Given the description of an element on the screen output the (x, y) to click on. 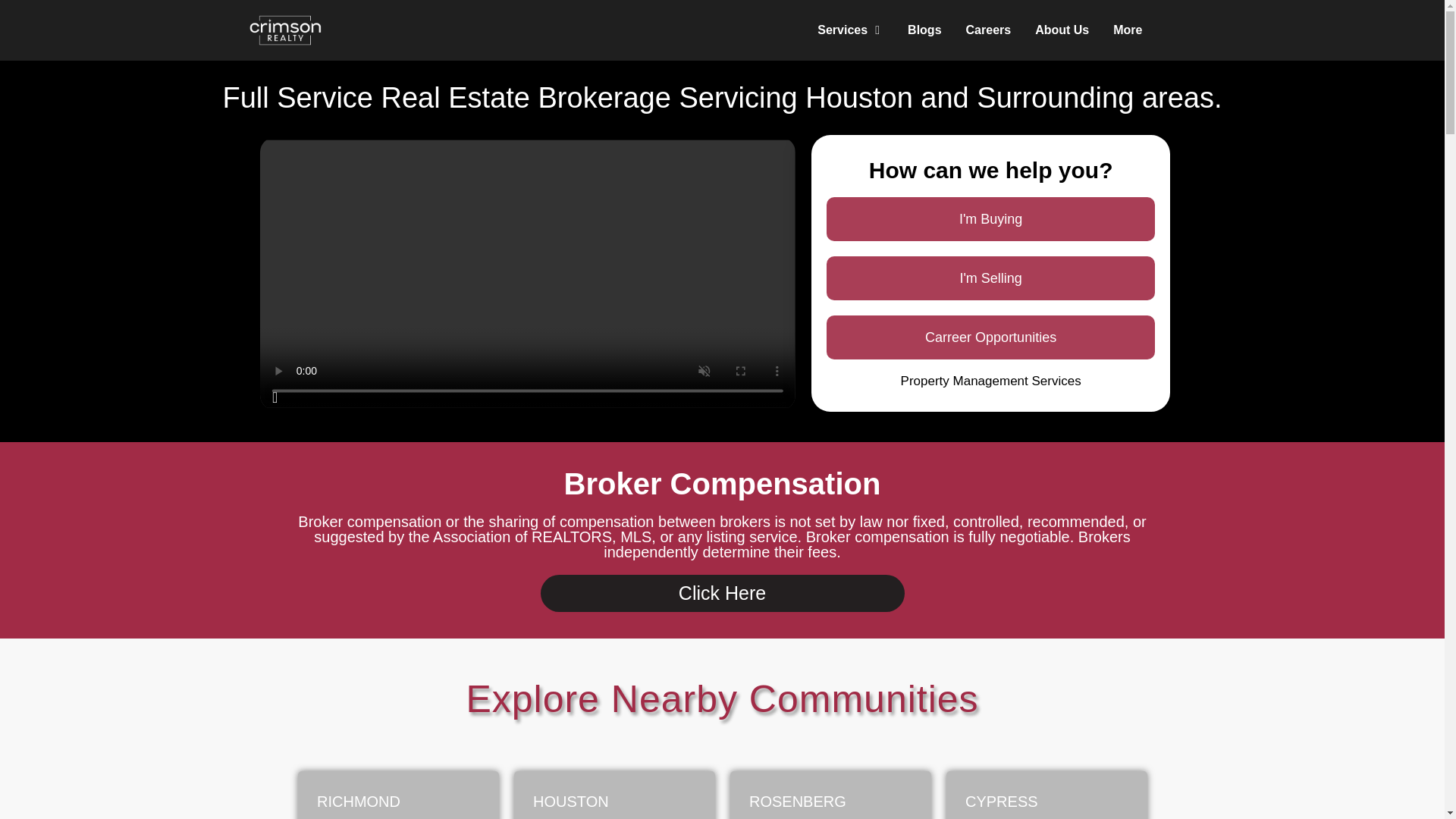
About Us (1062, 30)
Careers (988, 30)
CYPRESS (1046, 795)
ROSENBERG (829, 795)
Blogs (923, 30)
I'm Buying (990, 218)
HOUSTON (613, 795)
I'm Selling (990, 278)
More (1127, 30)
Property Management Services (991, 380)
